Given the description of an element on the screen output the (x, y) to click on. 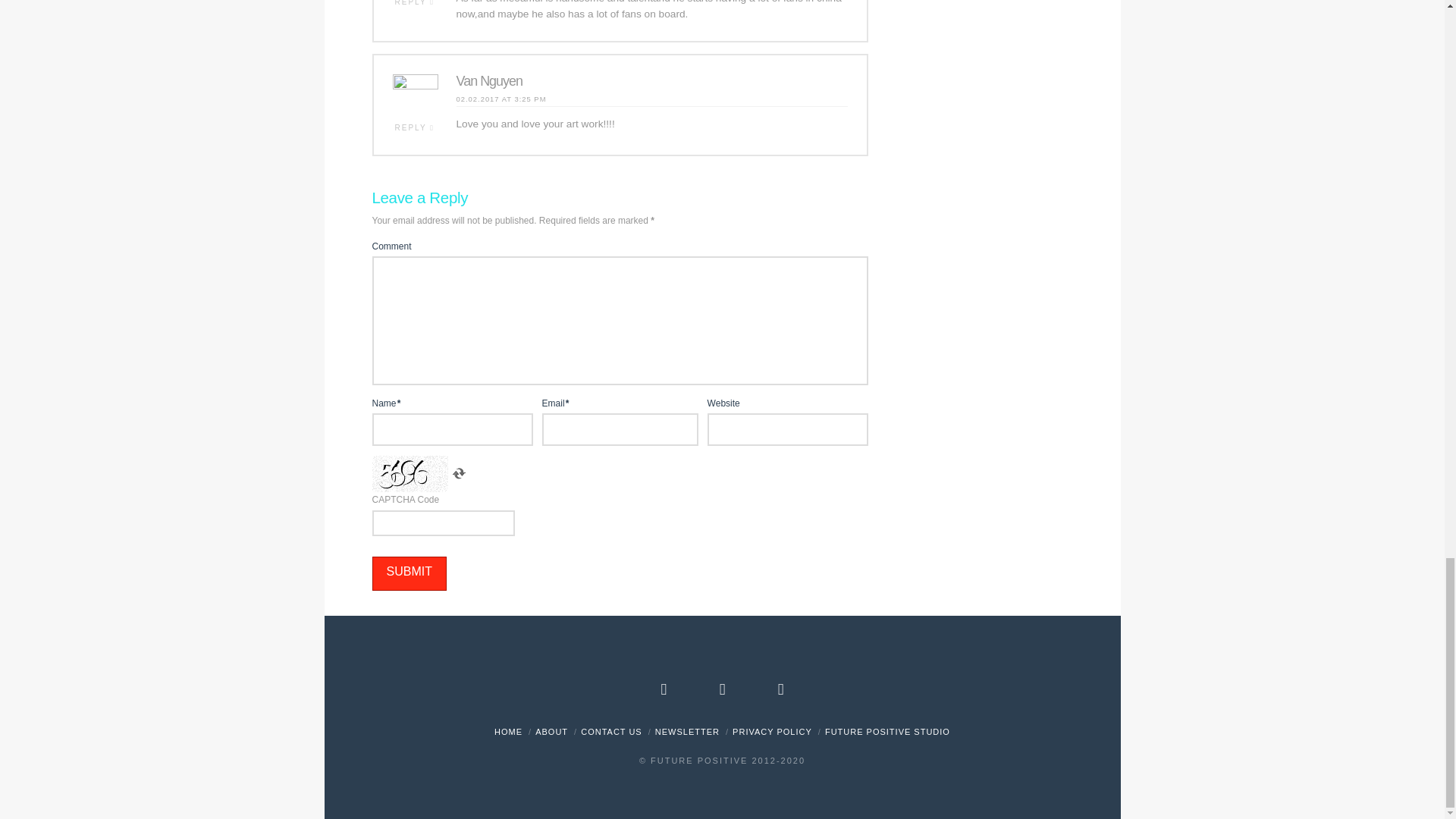
Submit (408, 573)
Instagram (781, 689)
Twitter (721, 689)
Facebook (663, 689)
Captcha Reload (458, 474)
